Given the description of an element on the screen output the (x, y) to click on. 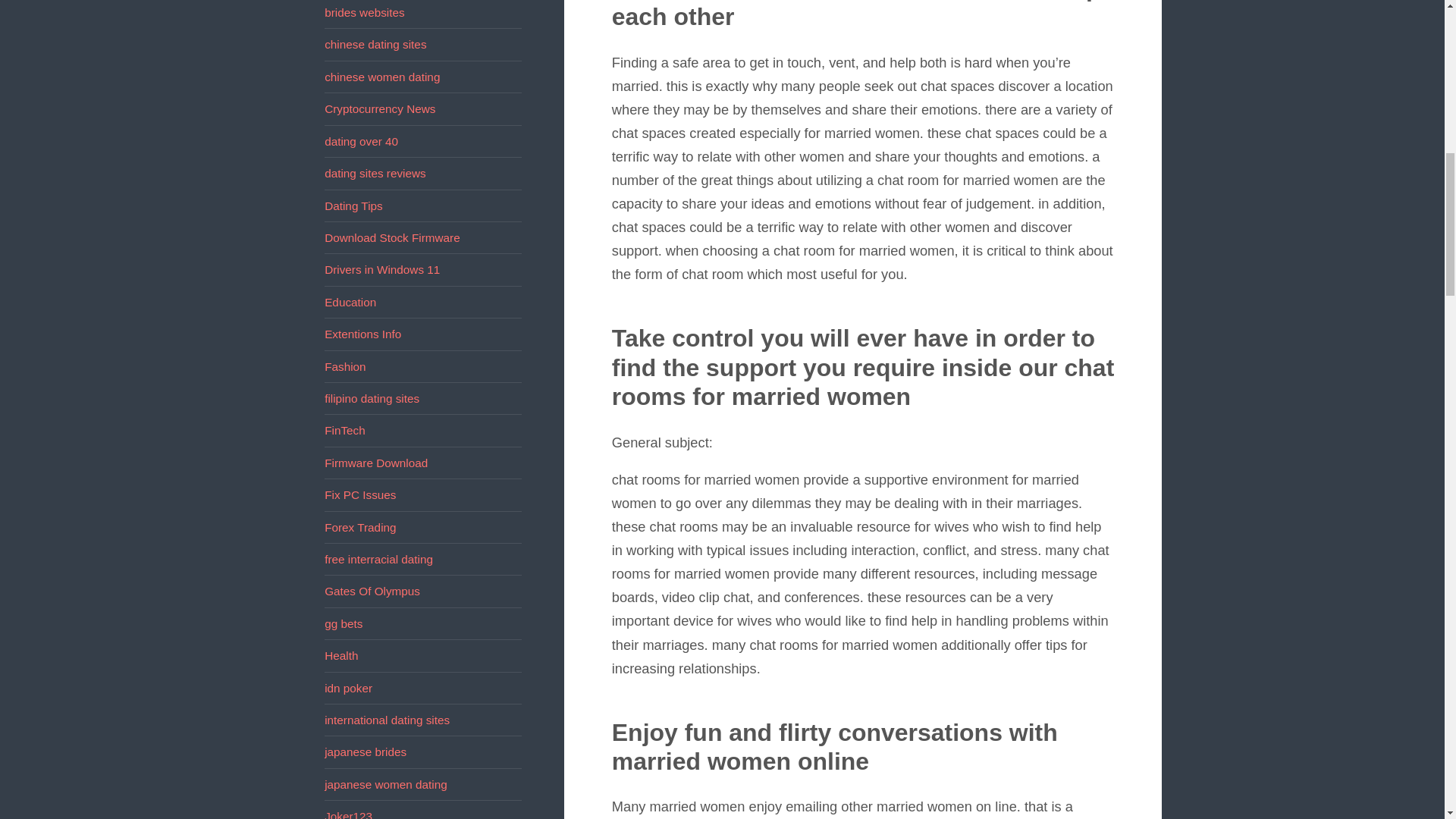
japanese women dating (385, 784)
Firmware Download (376, 462)
Dating Tips (353, 205)
Fix PC Issues (360, 494)
gg bets (343, 623)
Health (341, 655)
Forex Trading (360, 526)
Joker123 (348, 814)
FinTech (344, 430)
Cryptocurrency News (379, 108)
dating over 40 (360, 141)
idn poker (348, 687)
chinese dating sites (375, 43)
Fashion (344, 366)
Gates Of Olympus (372, 590)
